Given the description of an element on the screen output the (x, y) to click on. 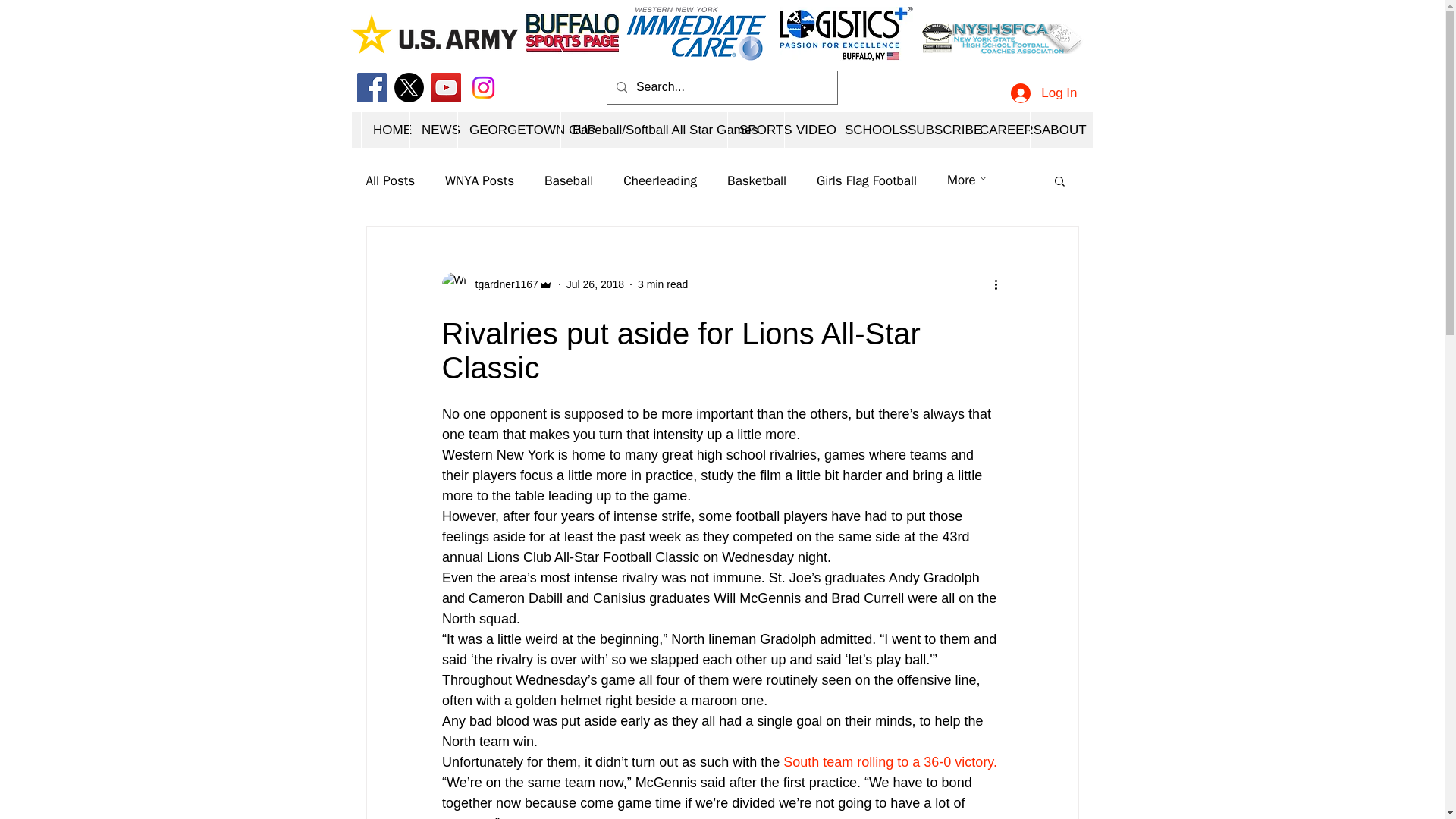
SPORTS (755, 130)
All Posts (389, 180)
ABOUT (1056, 130)
WNYA Posts (479, 180)
CAREERS (998, 130)
tgardner1167 (496, 283)
SCHOOLS (863, 130)
Log In (1043, 92)
VIDEO (808, 130)
Basketball (756, 180)
Jul 26, 2018 (595, 283)
South team rolling to a 36-0 victory. (890, 761)
tgardner1167 (501, 283)
HOME (385, 130)
Girls Flag Football (866, 180)
